Given the description of an element on the screen output the (x, y) to click on. 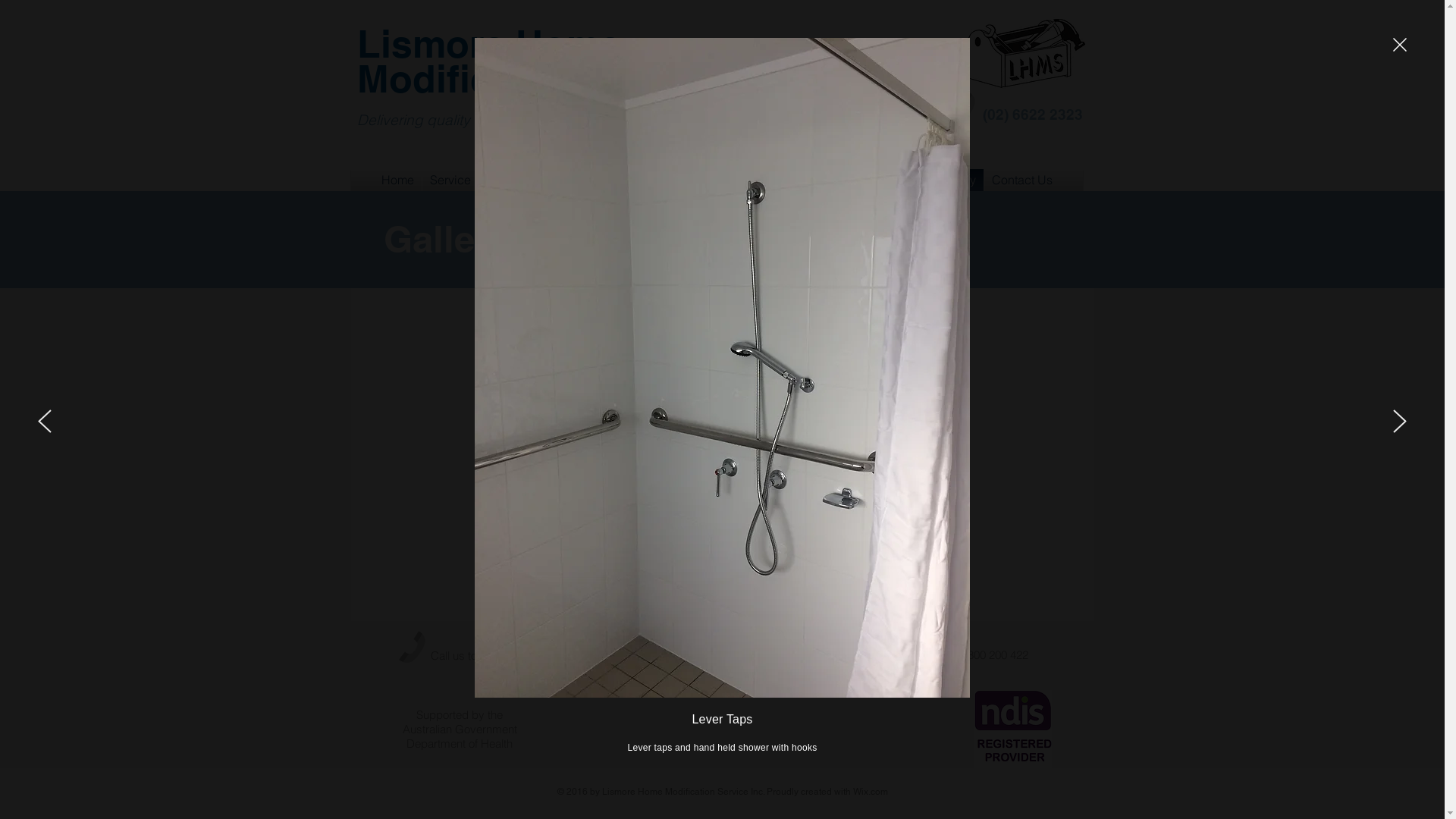
Service Provided Element type: text (475, 179)
Contact Us Element type: text (1022, 179)
Lismore Home Modification Service Inc Element type: text (574, 60)
Wix.com Element type: text (869, 790)
Supported by the Element type: text (459, 713)
Management Committee Element type: text (854, 179)
Client Information Element type: text (585, 179)
Gallery Element type: text (956, 179)
Privacy and Advocacy Element type: text (710, 179)
Australian Government Element type: text (458, 728)
Home Element type: text (396, 179)
homemods@bigpond.net.au Element type: text (758, 654)
